Given the description of an element on the screen output the (x, y) to click on. 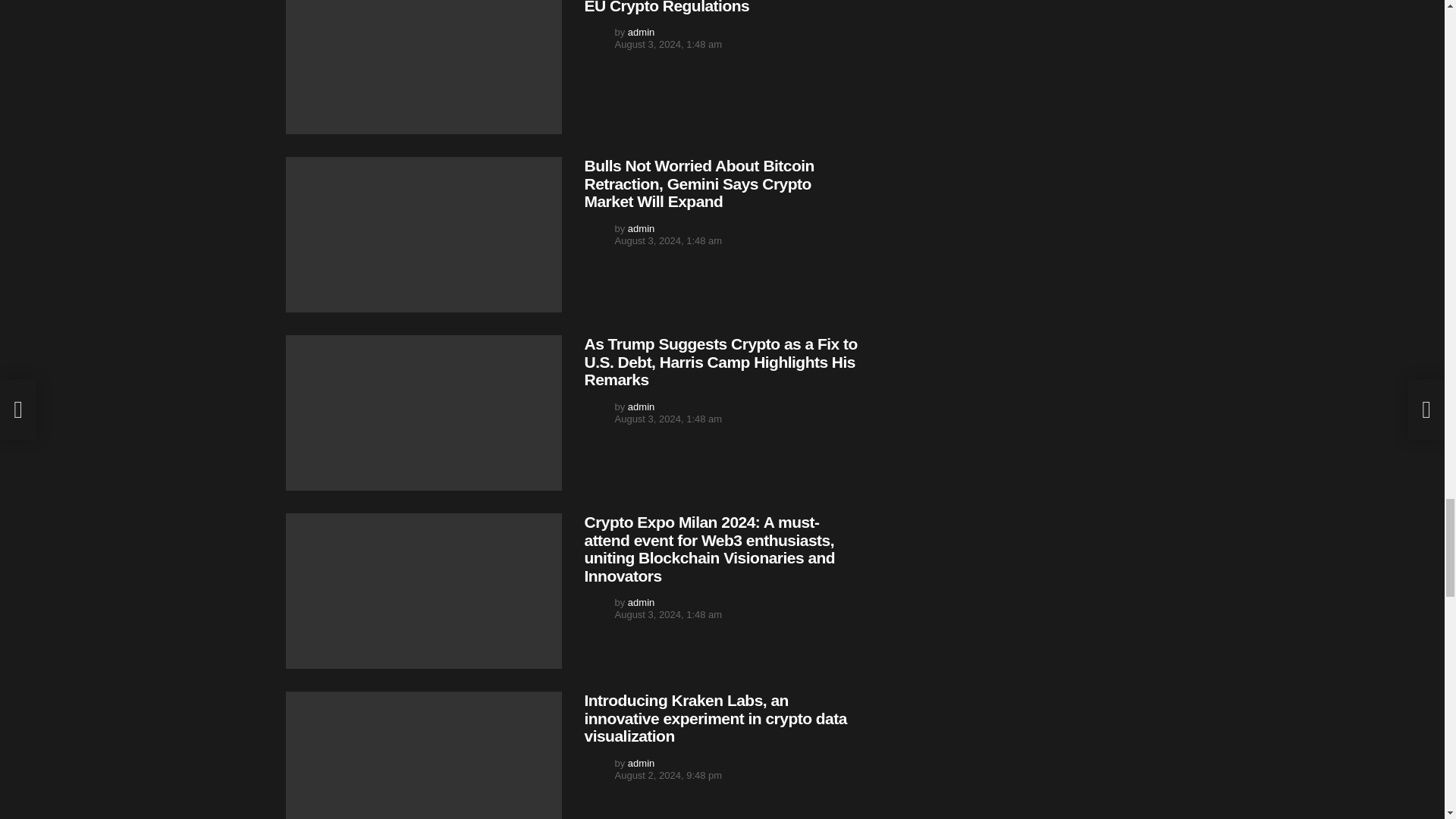
Bybit Exits French Market Amid New EU Crypto Regulations (422, 67)
Posts by admin (640, 31)
